Given the description of an element on the screen output the (x, y) to click on. 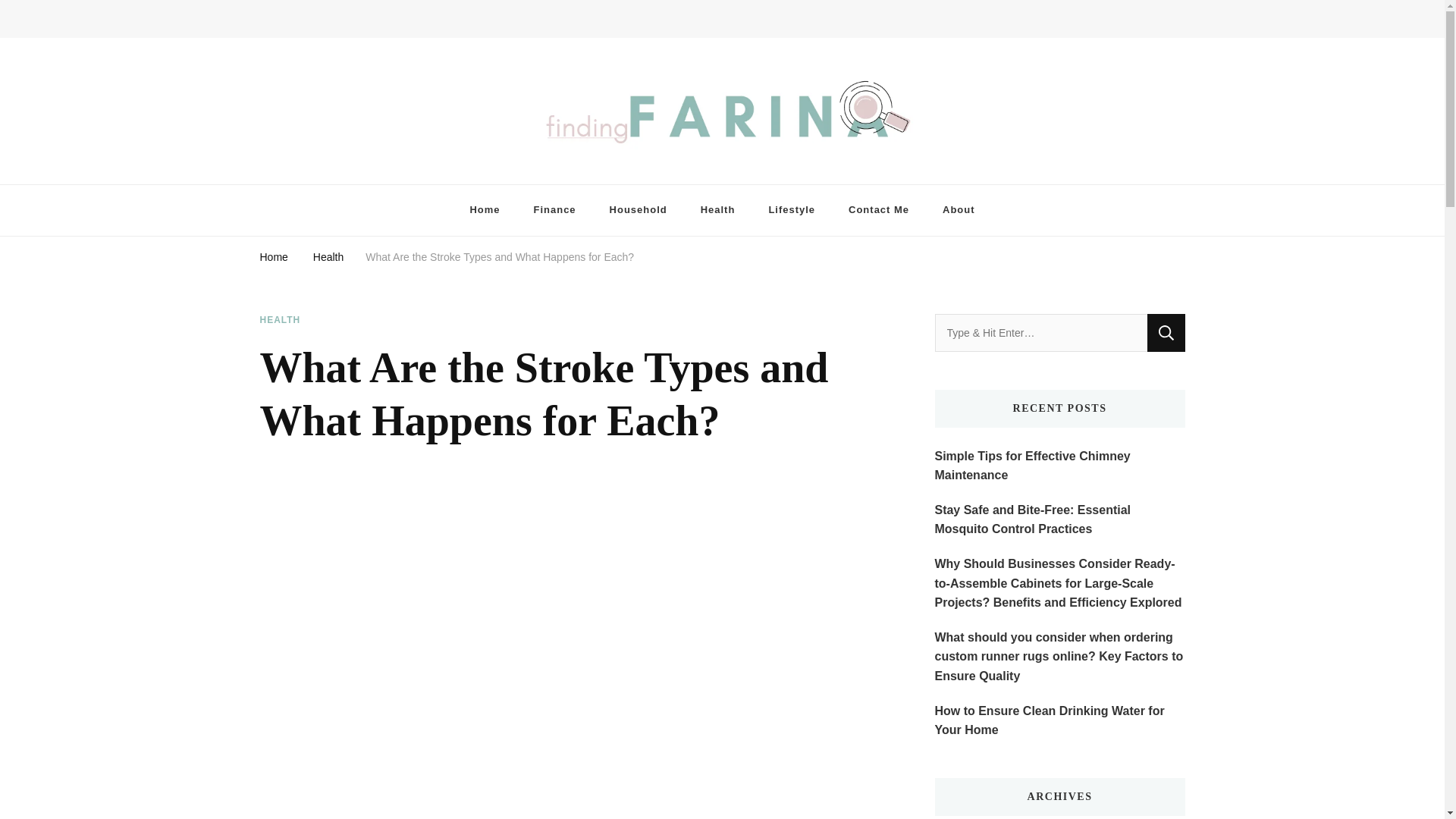
Home (484, 210)
Search (1148, 22)
Home (272, 256)
Lifestyle (791, 210)
Search (1166, 332)
How to Ensure Clean Drinking Water for Your Home (1059, 720)
Contact Me (878, 210)
Health (718, 210)
About (958, 210)
